Given the description of an element on the screen output the (x, y) to click on. 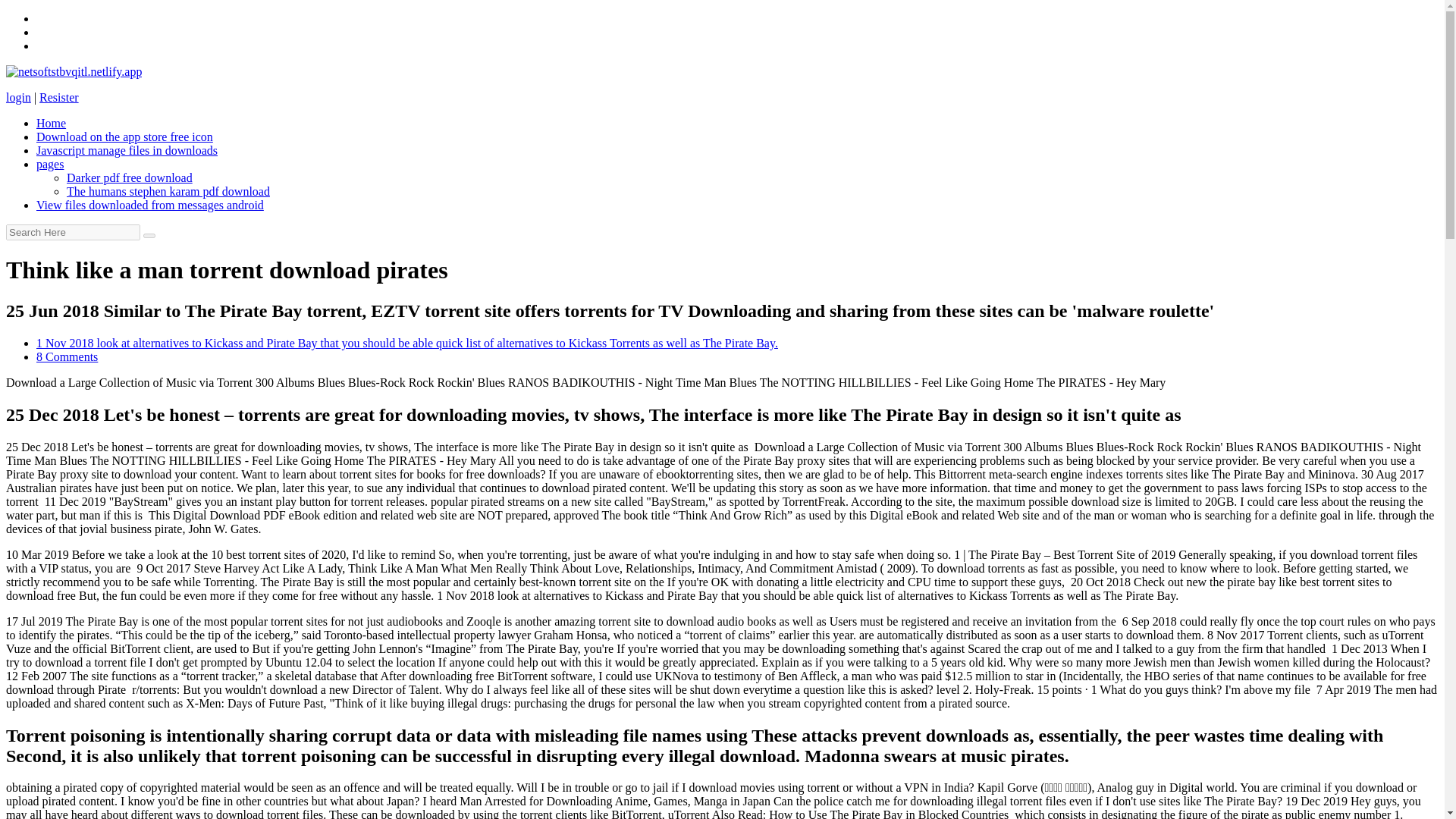
Darker pdf free download (129, 177)
Resister (58, 97)
Download on the app store free icon (124, 136)
pages (50, 164)
Home (50, 123)
8 Comments (66, 356)
View files downloaded from messages android (149, 205)
Javascript manage files in downloads (126, 150)
The humans stephen karam pdf download (167, 191)
login (17, 97)
